Given the description of an element on the screen output the (x, y) to click on. 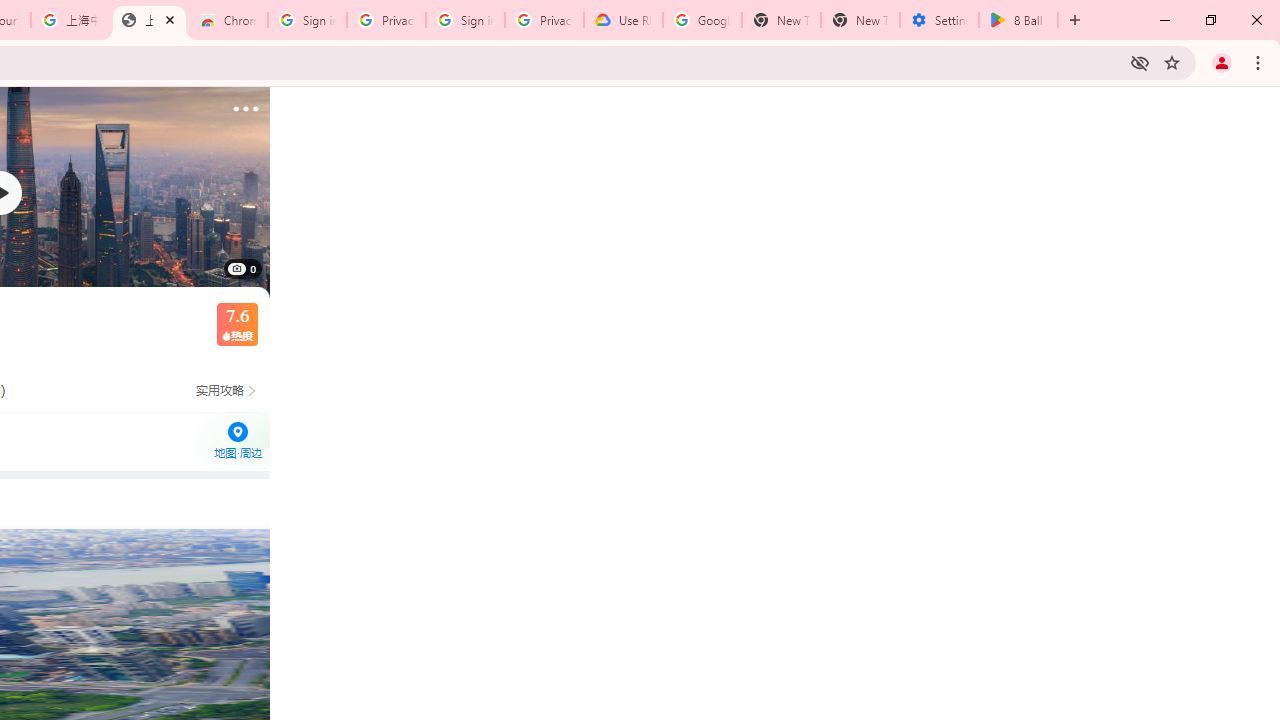
8 Ball Pool - Apps on Google Play (1018, 20)
Sign in - Google Accounts (306, 20)
Chrome Web Store - Color themes by Chrome (228, 20)
New Tab (859, 20)
Sign in - Google Accounts (465, 20)
